Given the description of an element on the screen output the (x, y) to click on. 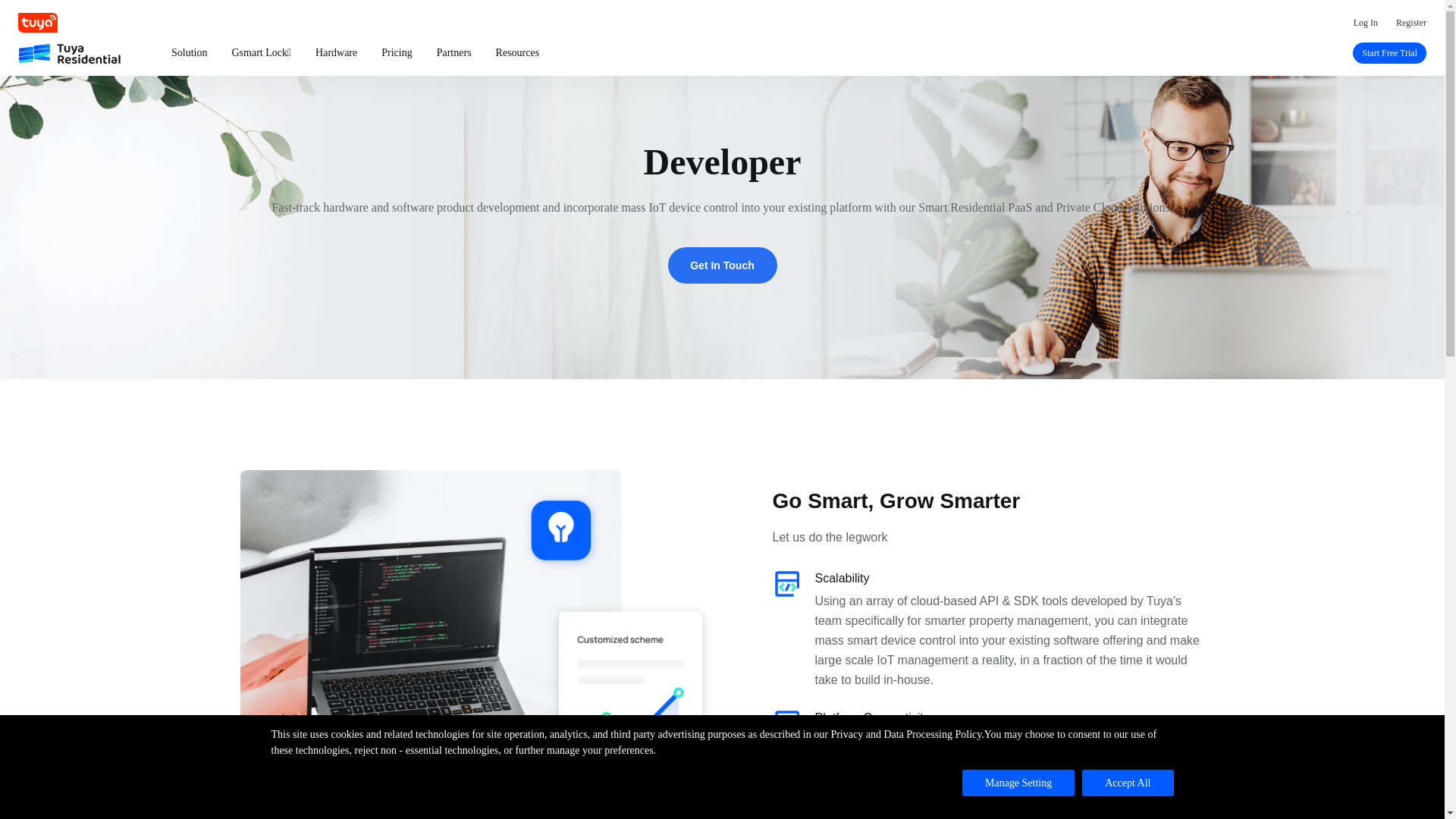
Hardware (335, 53)
